Given the description of an element on the screen output the (x, y) to click on. 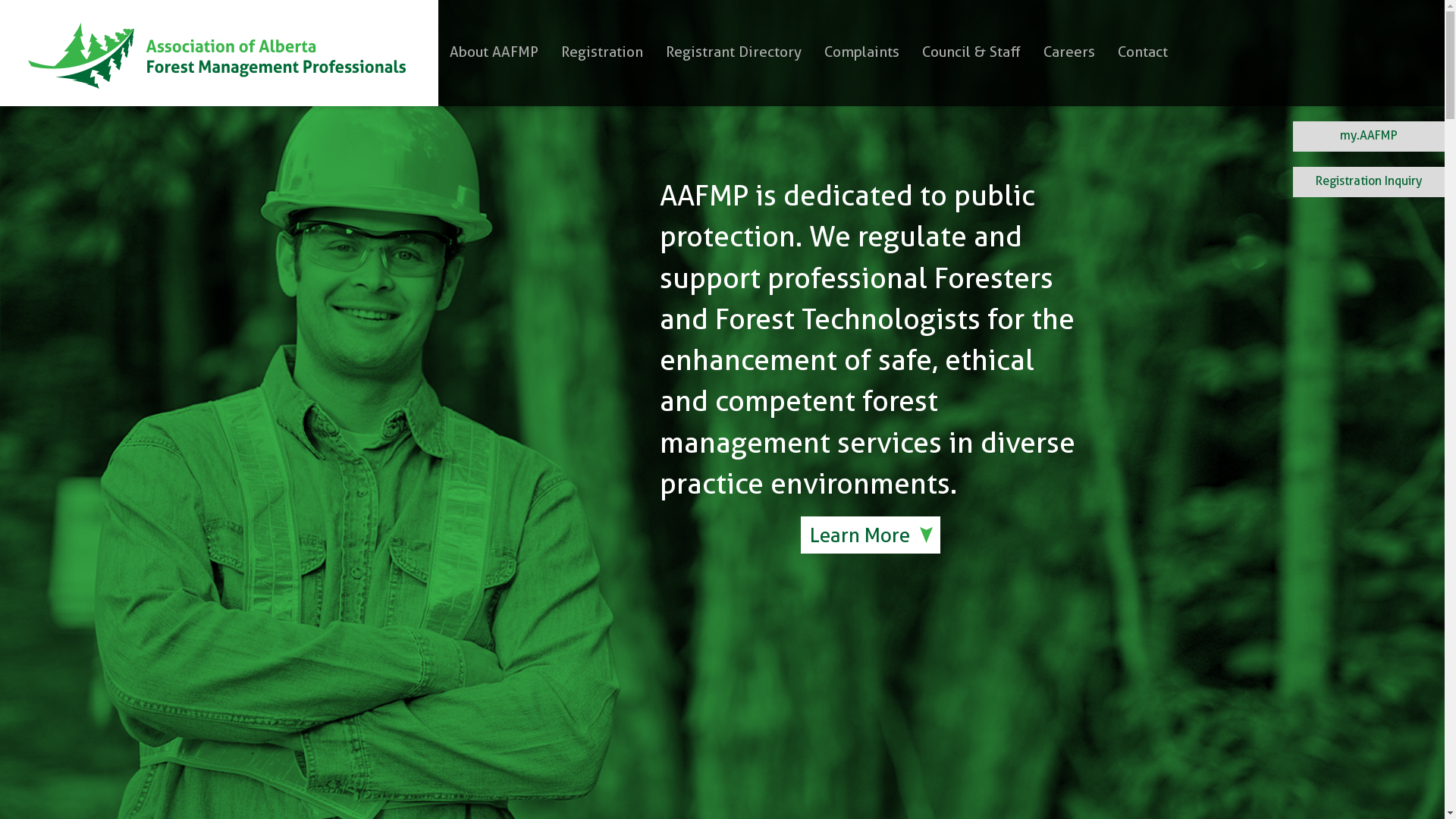
Registrant Directory Element type: text (733, 52)
Registration Element type: text (601, 52)
Registration Inquiry Element type: text (1368, 180)
Contact Element type: text (1142, 52)
About AAFMP Element type: text (493, 52)
Council & Staff Element type: text (971, 52)
my.AAFMP Element type: text (1368, 135)
Complaints Element type: text (861, 52)
Careers Element type: text (1069, 52)
Learn More Element type: text (870, 534)
